Given the description of an element on the screen output the (x, y) to click on. 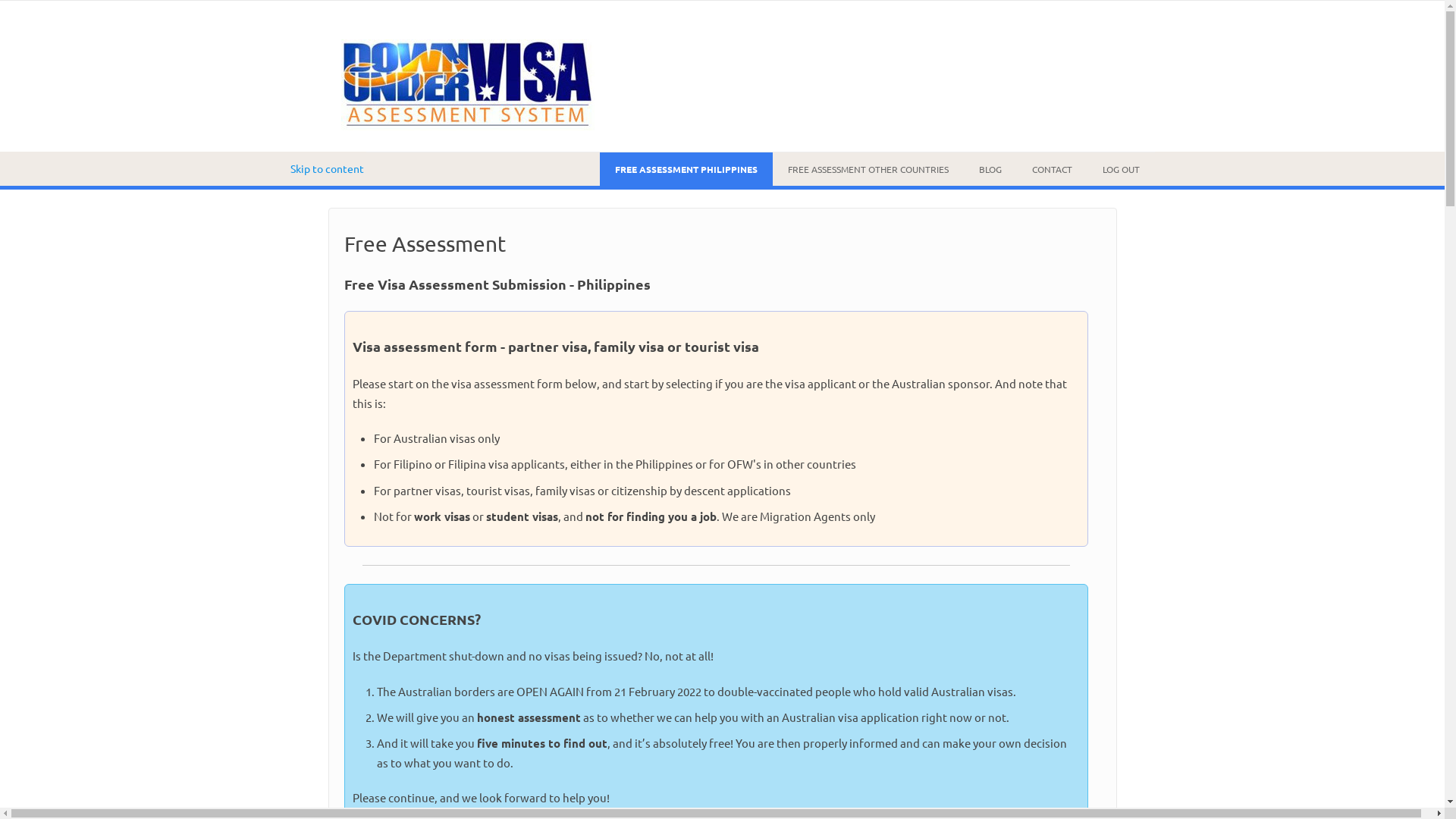
CONTACT Element type: text (1051, 168)
BLOG Element type: text (989, 168)
Down Under Visa Assessment System Element type: hover (467, 125)
LOG OUT Element type: text (1120, 168)
FREE ASSESSMENT PHILIPPINES Element type: text (685, 168)
Skip to content Element type: text (326, 168)
FREE ASSESSMENT OTHER COUNTRIES Element type: text (867, 168)
